Given the description of an element on the screen output the (x, y) to click on. 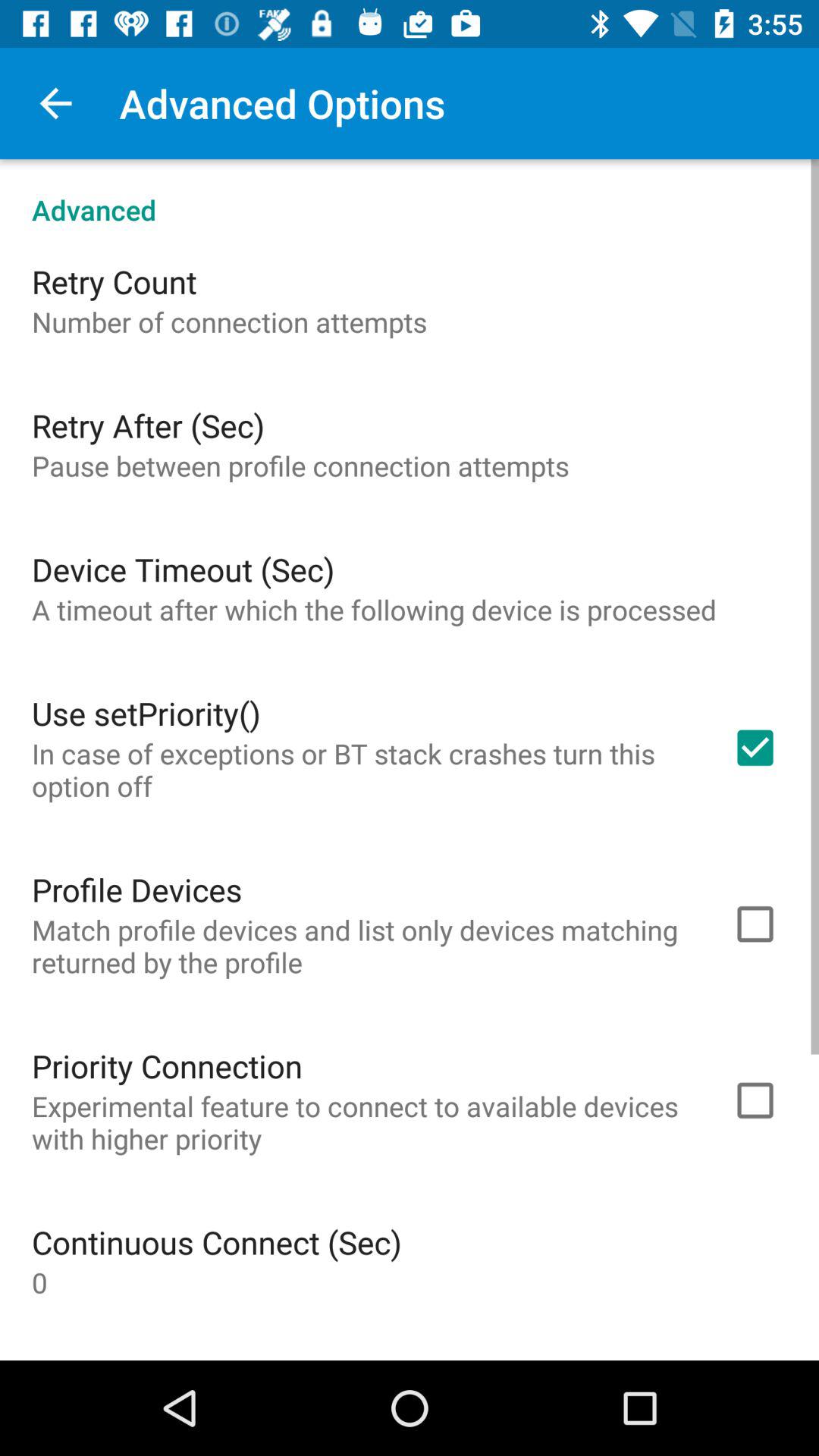
choose the icon below a timeout after (145, 712)
